Given the description of an element on the screen output the (x, y) to click on. 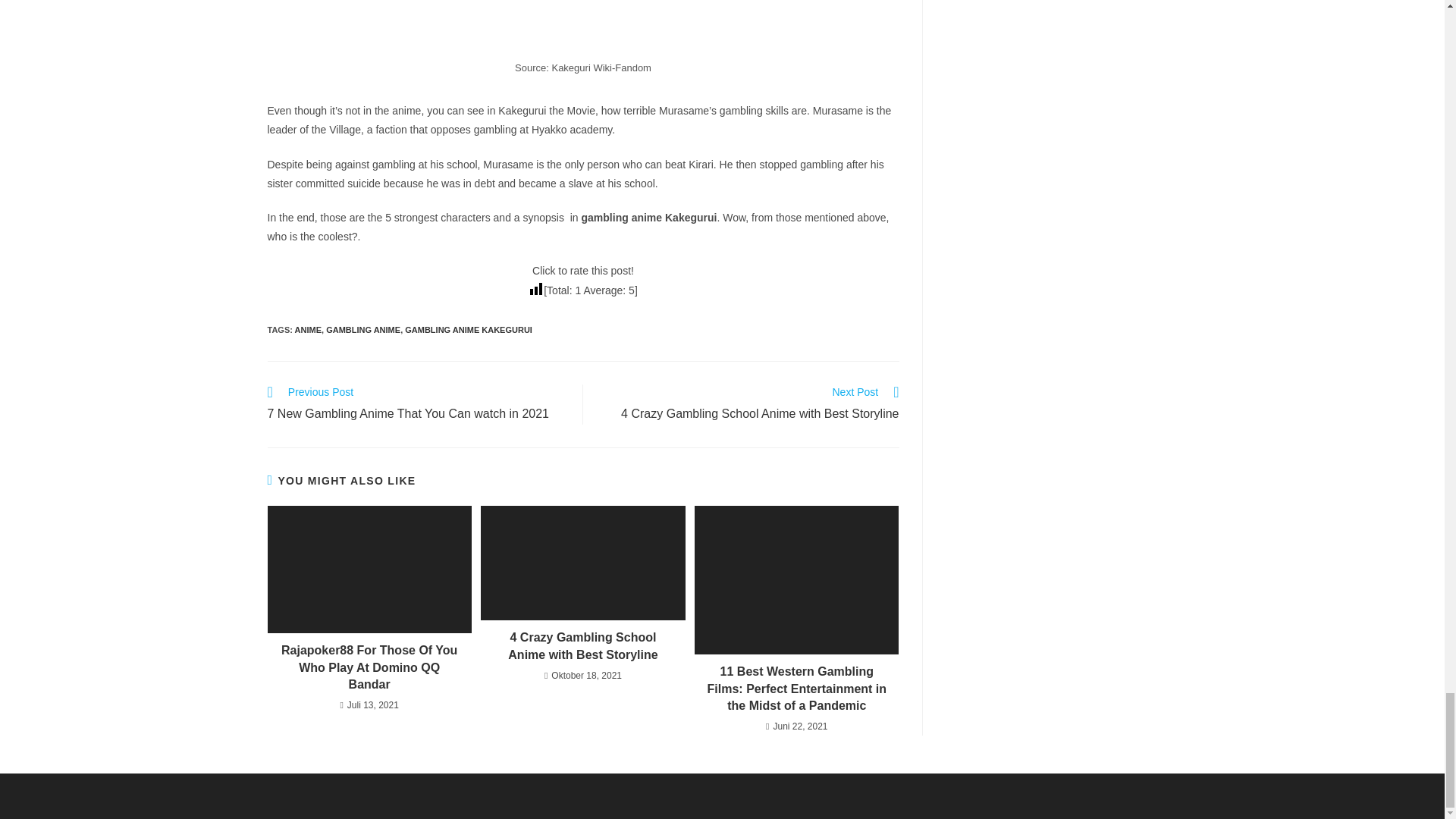
4 Crazy Gambling School Anime with Best Storyline (582, 646)
Rajapoker88 For Those Of You Who Play At Domino QQ Bandar (368, 667)
ANIME (308, 329)
GAMBLING ANIME (363, 329)
GAMBLING ANIME KAKEGURUI (748, 404)
